Given the description of an element on the screen output the (x, y) to click on. 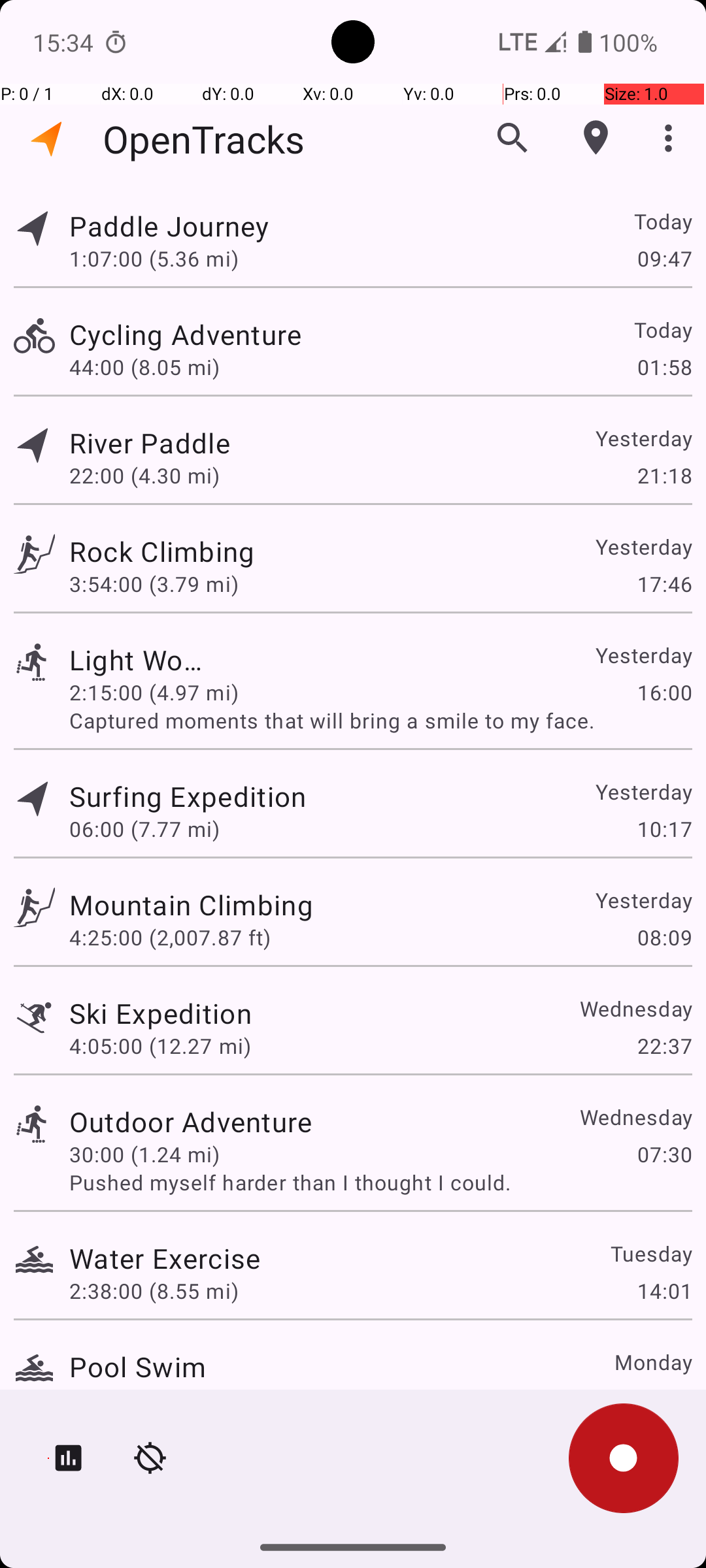
Paddle Journey Element type: android.widget.TextView (190, 225)
1:07:00 (5.36 mi) Element type: android.widget.TextView (169, 258)
09:47 Element type: android.widget.TextView (664, 258)
Cycling Adventure Element type: android.widget.TextView (190, 333)
44:00 (8.05 mi) Element type: android.widget.TextView (159, 366)
01:58 Element type: android.widget.TextView (664, 366)
River Paddle Element type: android.widget.TextView (160, 442)
22:00 (4.30 mi) Element type: android.widget.TextView (159, 475)
21:18 Element type: android.widget.TextView (664, 475)
Rock Climbing Element type: android.widget.TextView (164, 550)
3:54:00 (3.79 mi) Element type: android.widget.TextView (153, 583)
17:46 Element type: android.widget.TextView (664, 583)
Light Workout Element type: android.widget.TextView (137, 659)
2:15:00 (4.97 mi) Element type: android.widget.TextView (153, 692)
Captured moments that will bring a smile to my face. Element type: android.widget.TextView (380, 720)
Surfing Expedition Element type: android.widget.TextView (187, 795)
06:00 (7.77 mi) Element type: android.widget.TextView (144, 828)
10:17 Element type: android.widget.TextView (664, 828)
Mountain Climbing Element type: android.widget.TextView (190, 904)
4:25:00 (2,007.87 ft) Element type: android.widget.TextView (169, 937)
08:09 Element type: android.widget.TextView (664, 937)
Ski Expedition Element type: android.widget.TextView (160, 1012)
4:05:00 (12.27 mi) Element type: android.widget.TextView (159, 1045)
22:37 Element type: android.widget.TextView (664, 1045)
Outdoor Adventure Element type: android.widget.TextView (190, 1121)
30:00 (1.24 mi) Element type: android.widget.TextView (144, 1154)
07:30 Element type: android.widget.TextView (664, 1154)
Pushed myself harder than I thought I could. Element type: android.widget.TextView (380, 1182)
Water Exercise Element type: android.widget.TextView (164, 1257)
2:38:00 (8.55 mi) Element type: android.widget.TextView (153, 1290)
14:01 Element type: android.widget.TextView (664, 1290)
Pool Swim Element type: android.widget.TextView (137, 1366)
1:08:00 (5.91 mi) Element type: android.widget.TextView (153, 1399)
05:29 Element type: android.widget.TextView (664, 1399)
